Given the description of an element on the screen output the (x, y) to click on. 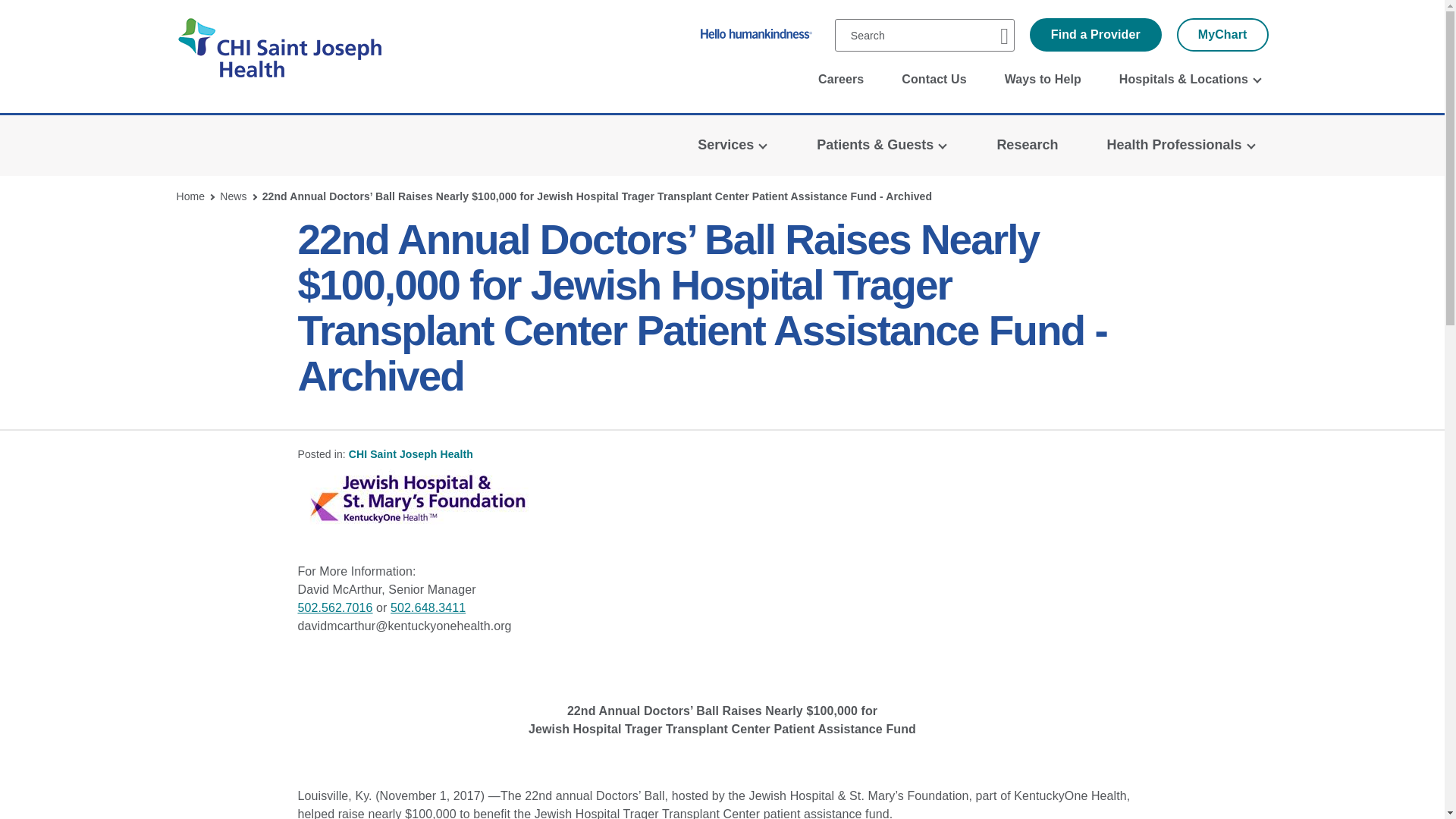
MyChart (1222, 34)
Ways to Help (1042, 79)
Careers (840, 79)
Find a Provider (1095, 34)
Contact Us (933, 79)
